Given the description of an element on the screen output the (x, y) to click on. 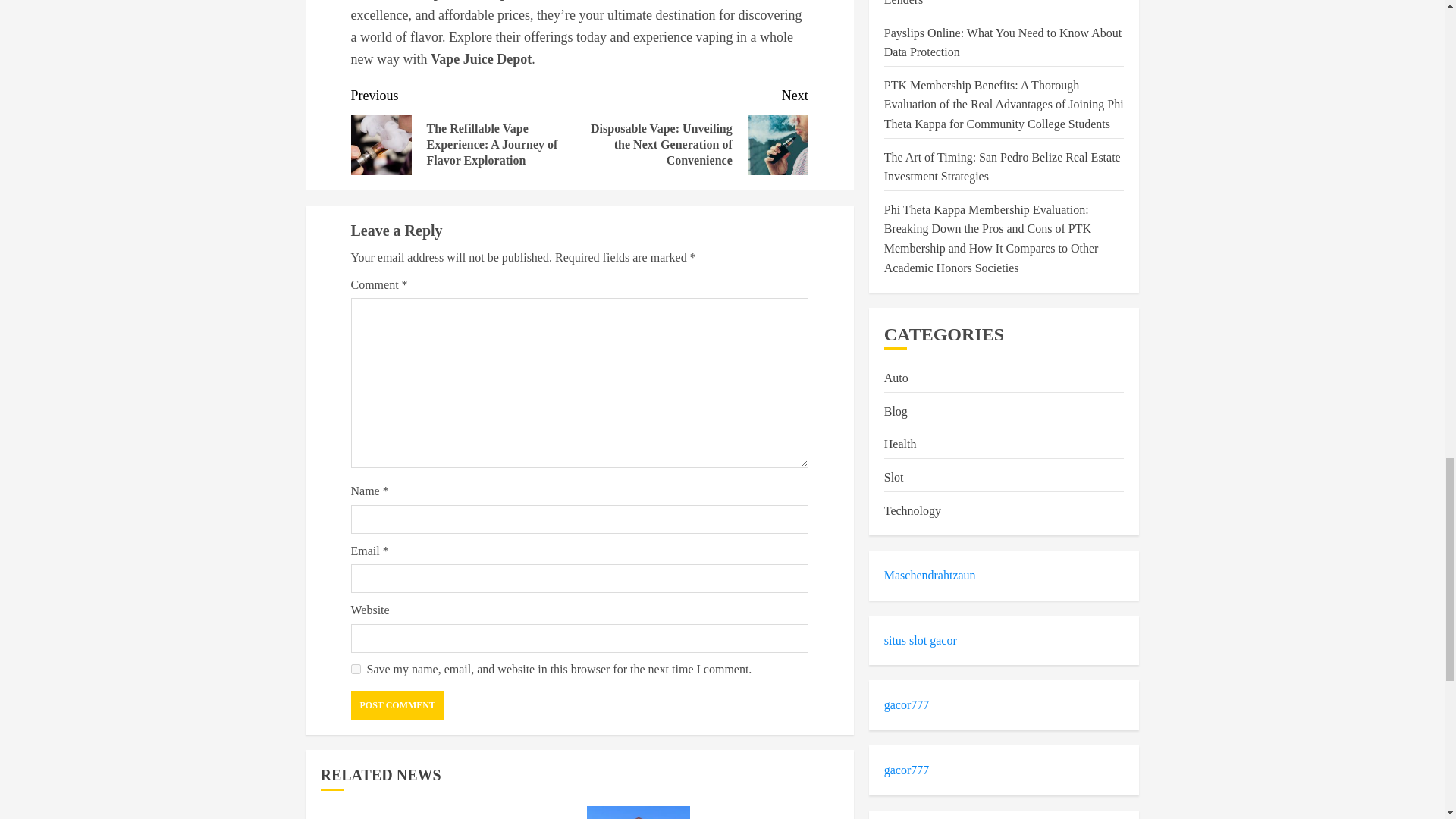
Post Comment (397, 705)
Post Comment (397, 705)
yes (354, 669)
